Given the description of an element on the screen output the (x, y) to click on. 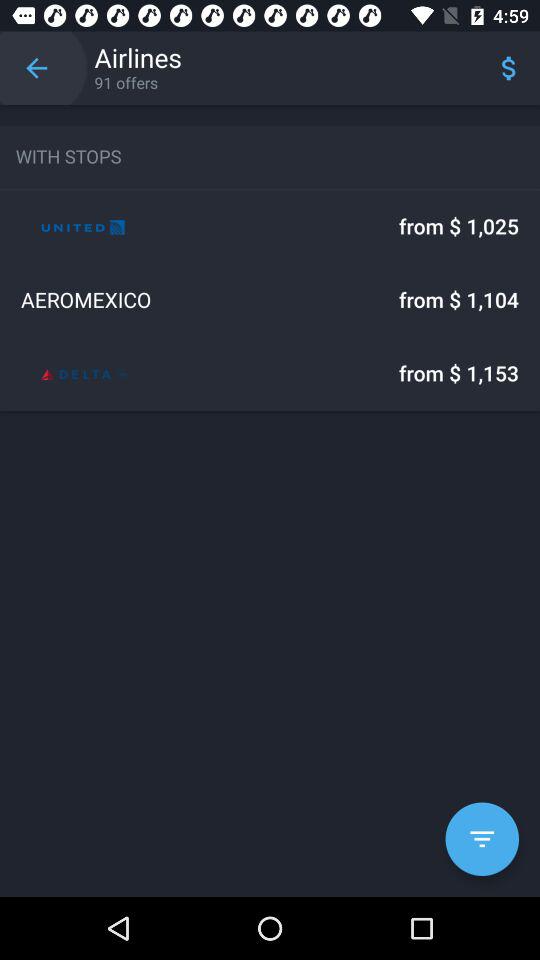
choose the icon at the bottom right corner (482, 839)
